Given the description of an element on the screen output the (x, y) to click on. 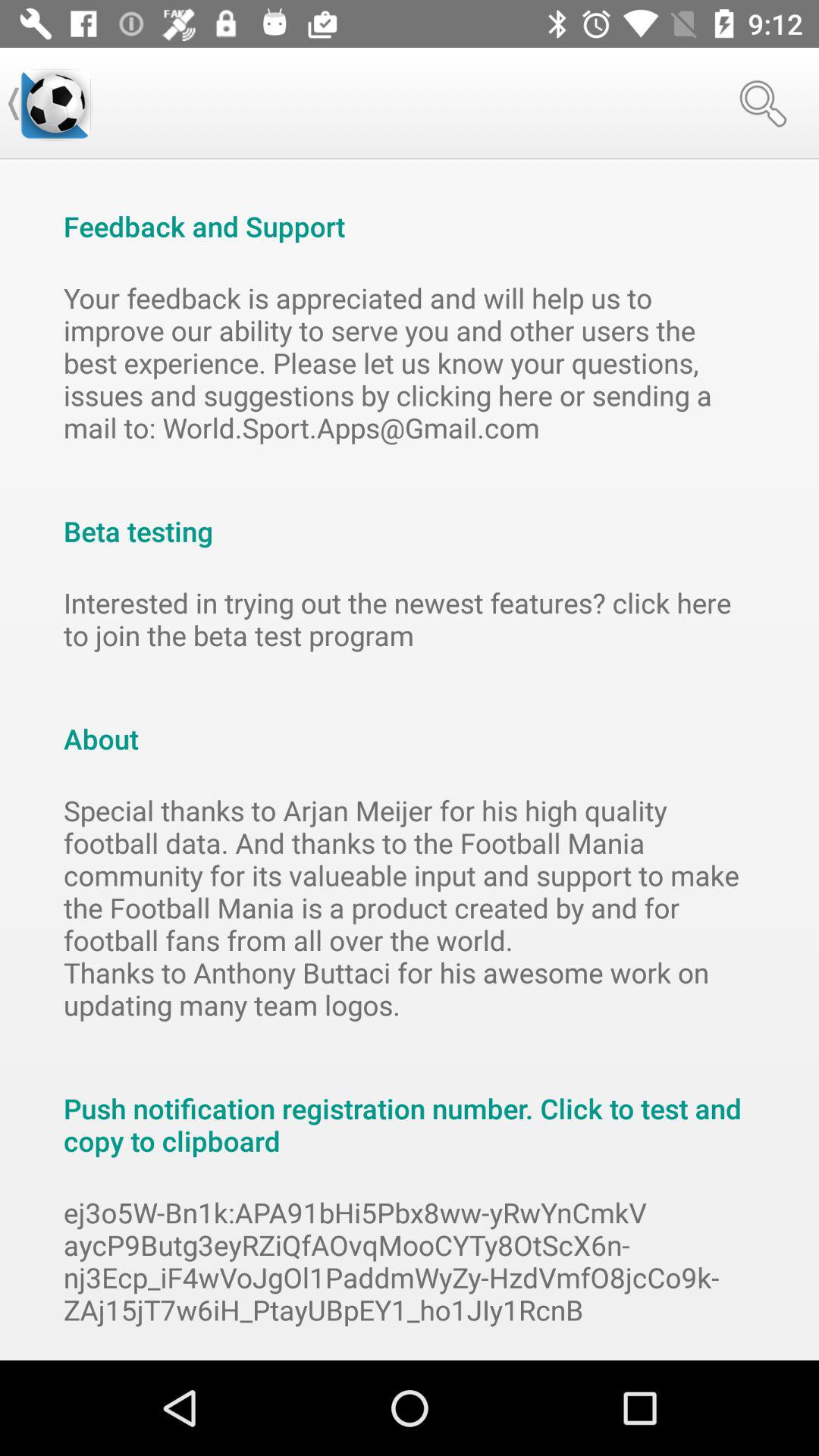
click item below the feedback and support (409, 362)
